Given the description of an element on the screen output the (x, y) to click on. 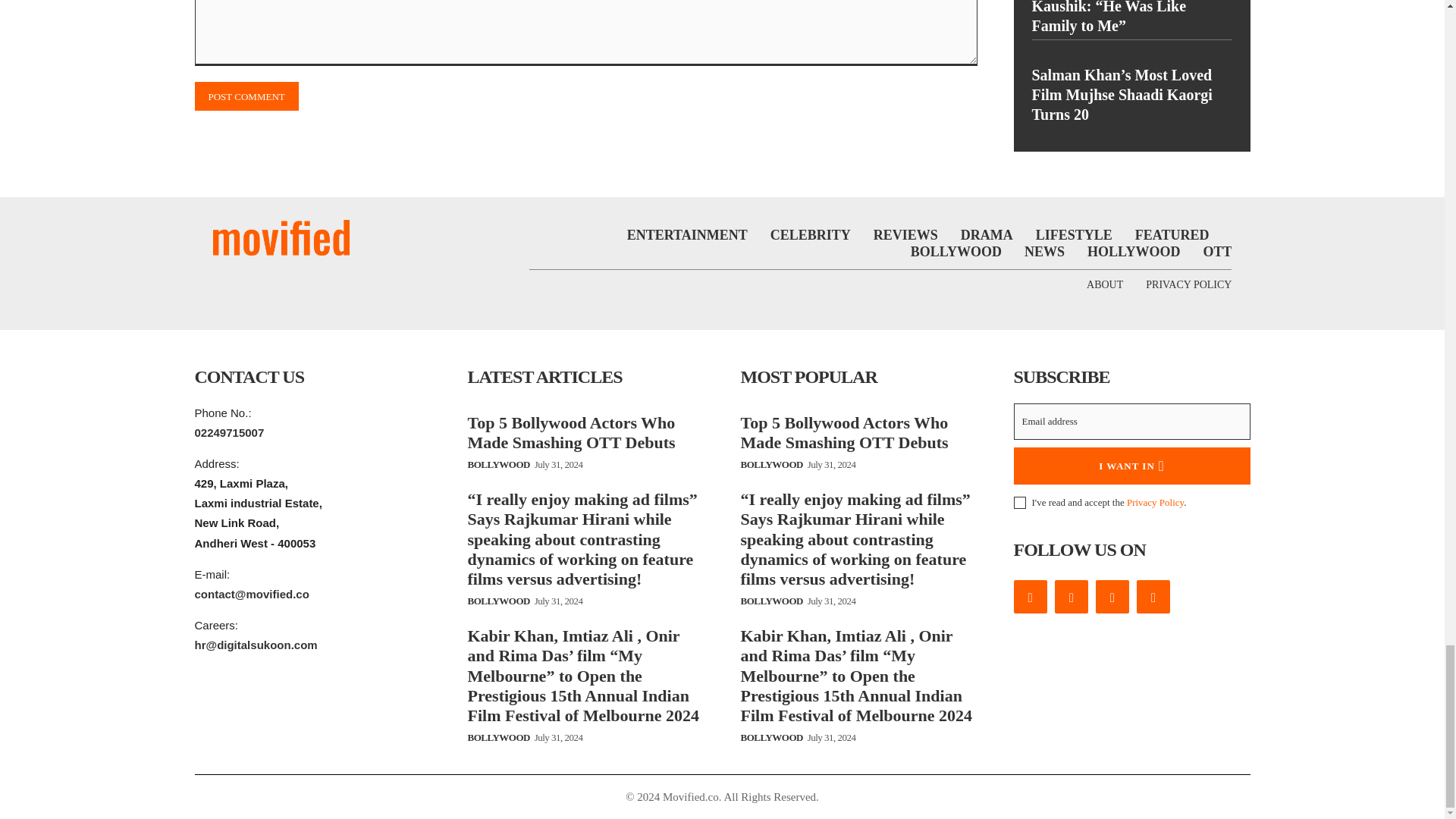
Post Comment (245, 96)
